Given the description of an element on the screen output the (x, y) to click on. 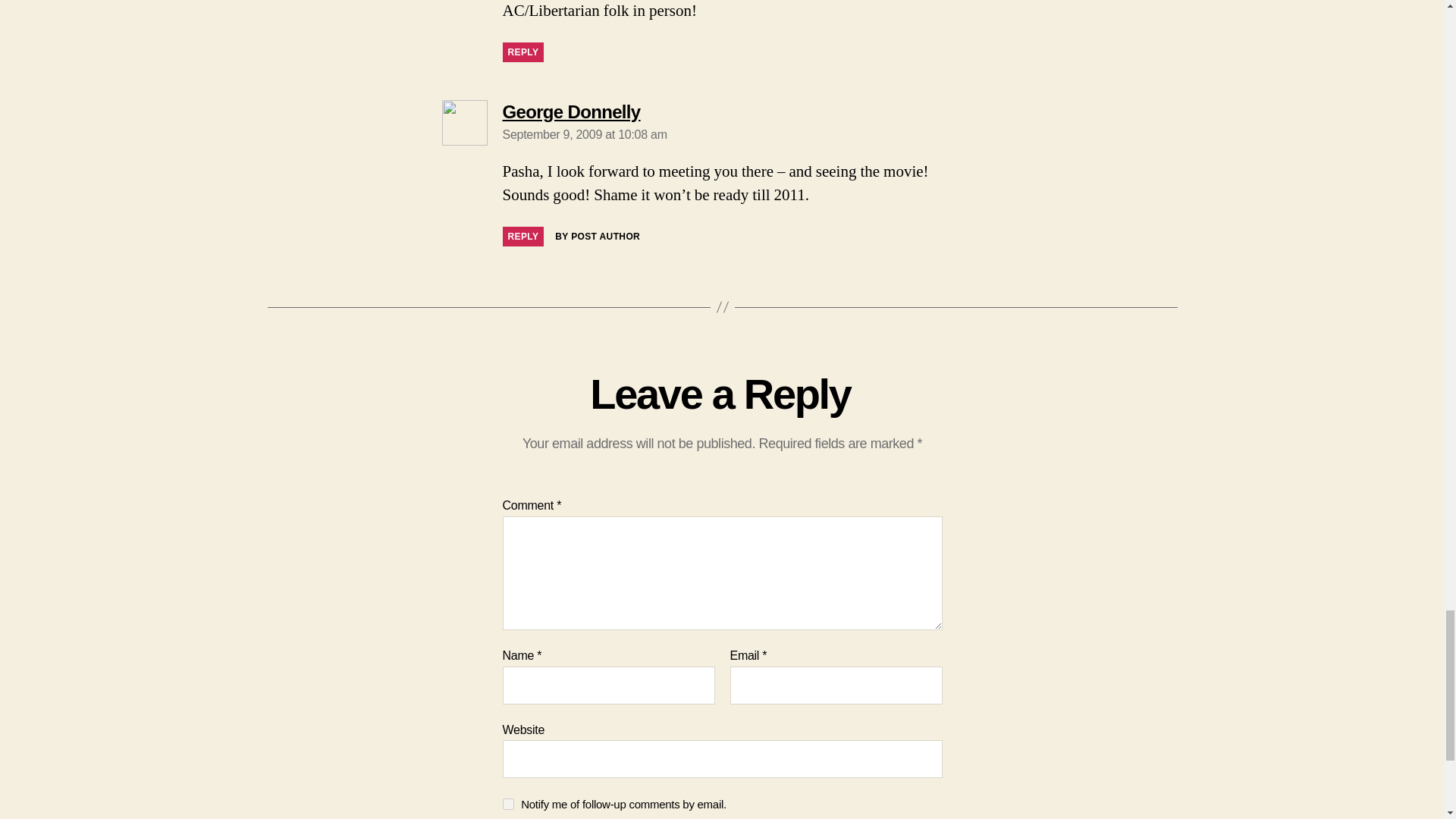
REPLY (522, 52)
subscribe (507, 803)
September 9, 2009 at 10:08 am (584, 133)
REPLY (522, 236)
